Given the description of an element on the screen output the (x, y) to click on. 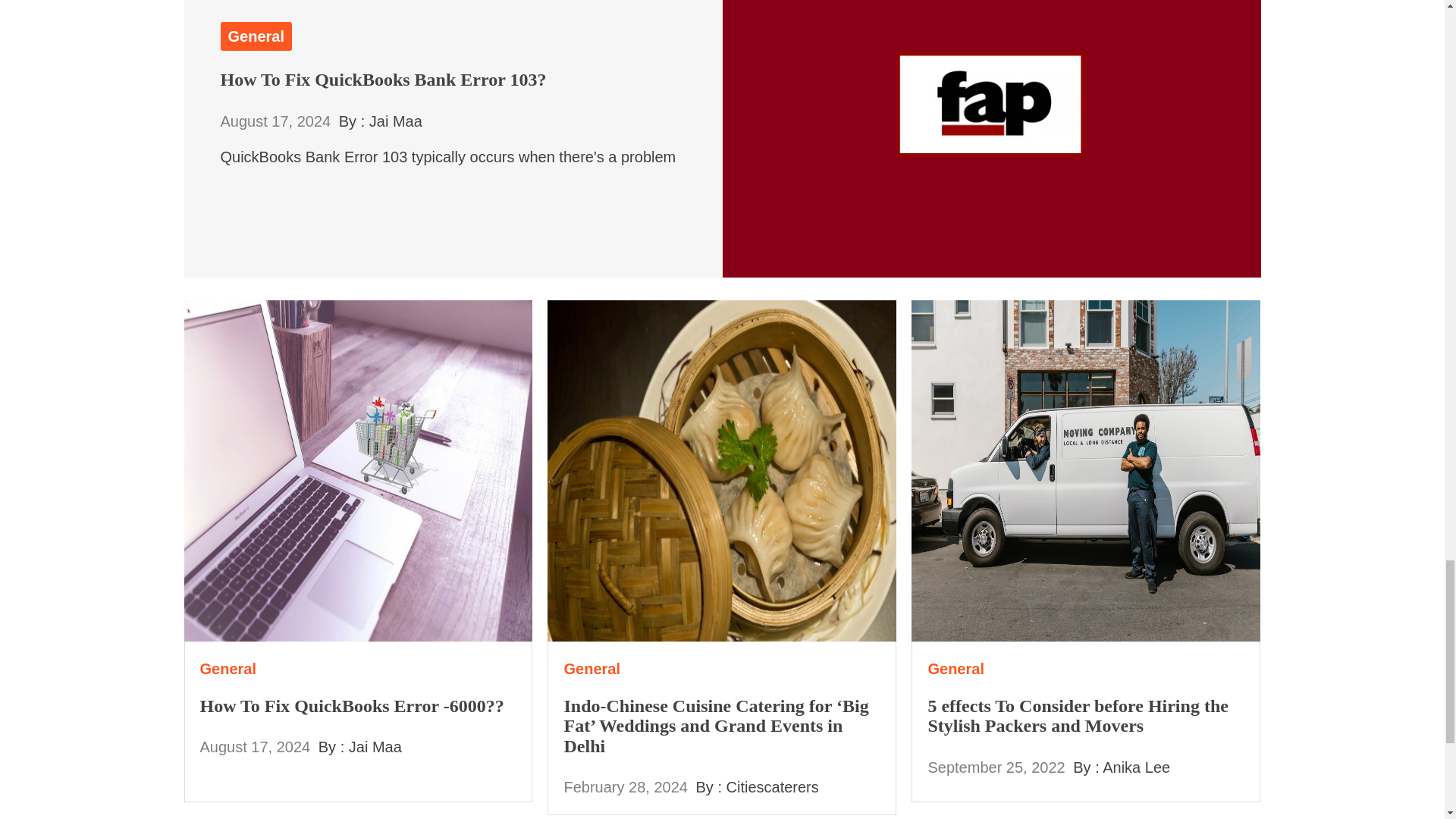
General (229, 668)
August 17, 2024 (274, 121)
General (255, 36)
Jai Maa (375, 746)
Jai Maa (395, 121)
How To Fix QuickBooks Bank Error 103? (382, 79)
August 17, 2024 (255, 746)
How To Fix QuickBooks Error -6000?? (351, 705)
